Given the description of an element on the screen output the (x, y) to click on. 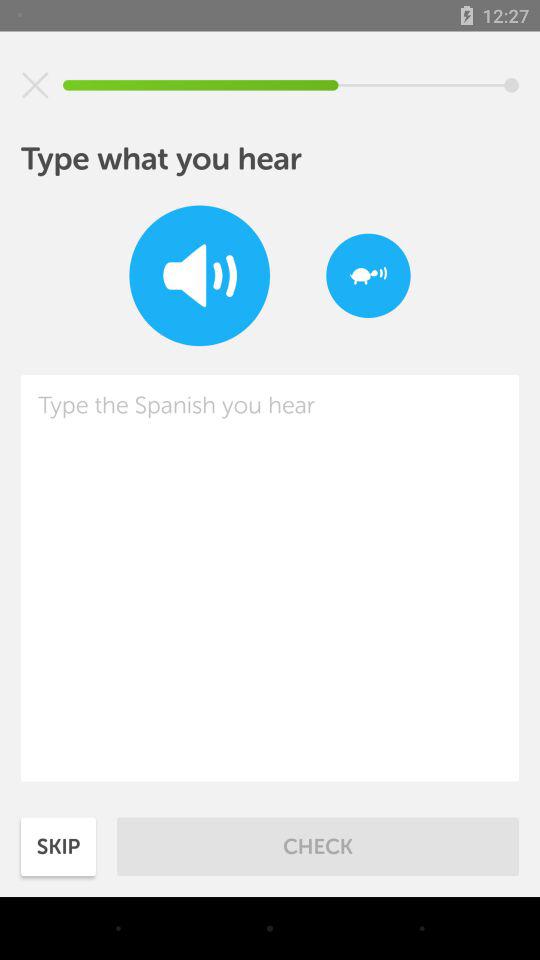
close window (35, 85)
